Given the description of an element on the screen output the (x, y) to click on. 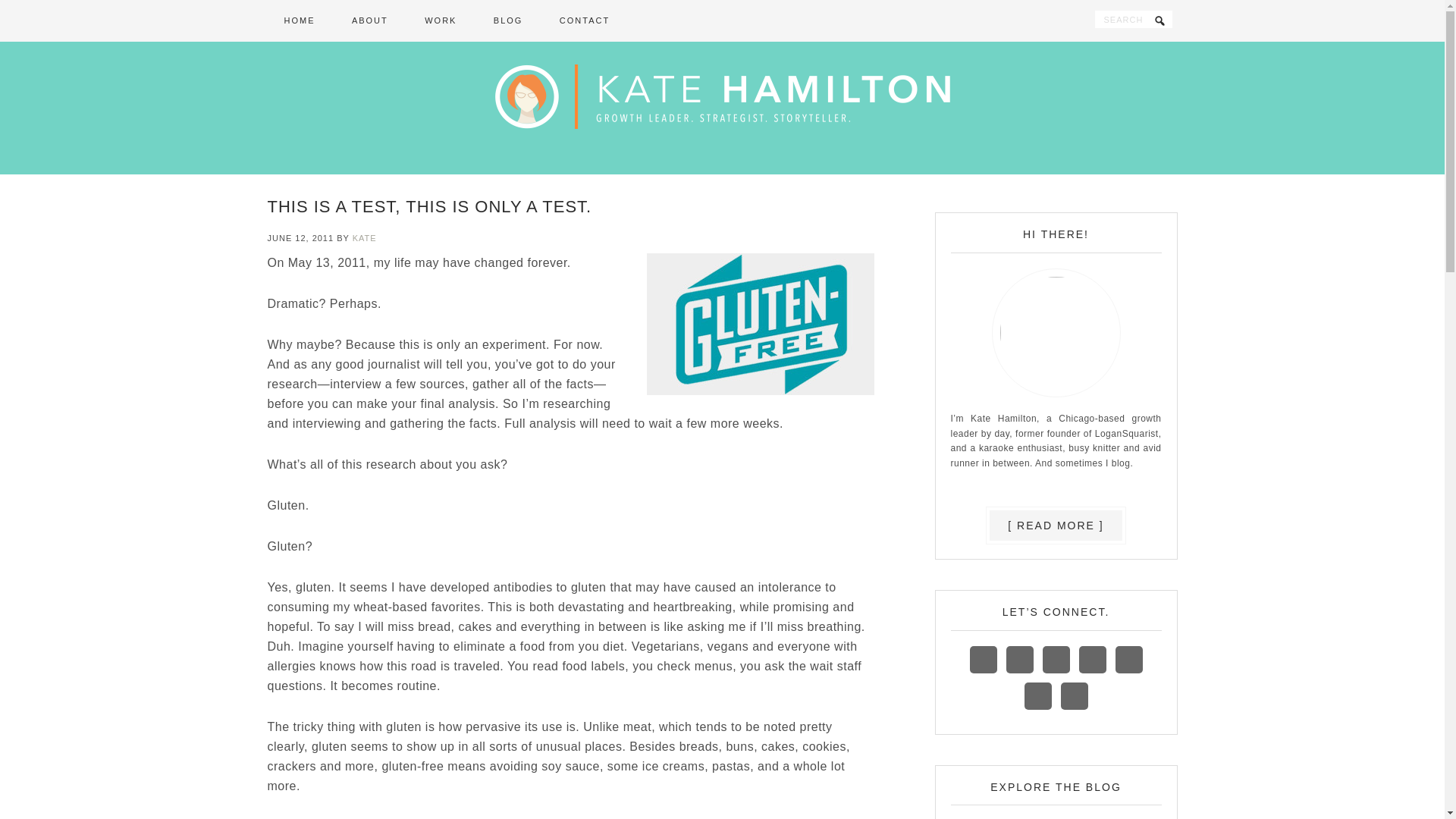
Kate Hamilton (722, 104)
WORK (440, 20)
CONTACT (584, 20)
HOME (298, 20)
KATE (364, 237)
ABOUT (369, 20)
BLOG (508, 20)
